Given the description of an element on the screen output the (x, y) to click on. 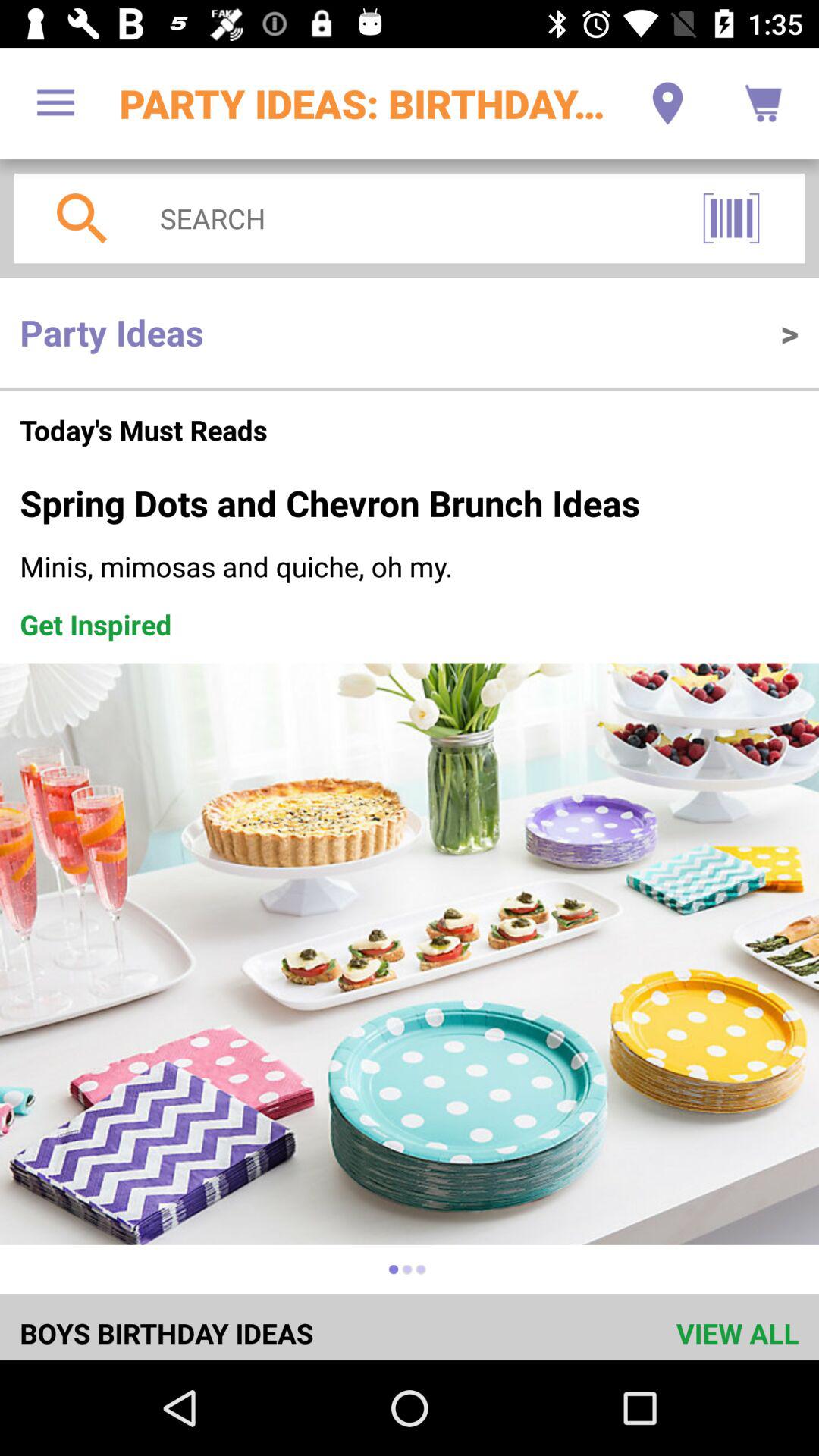
turn on the minis mimosas and icon (409, 566)
